Given the description of an element on the screen output the (x, y) to click on. 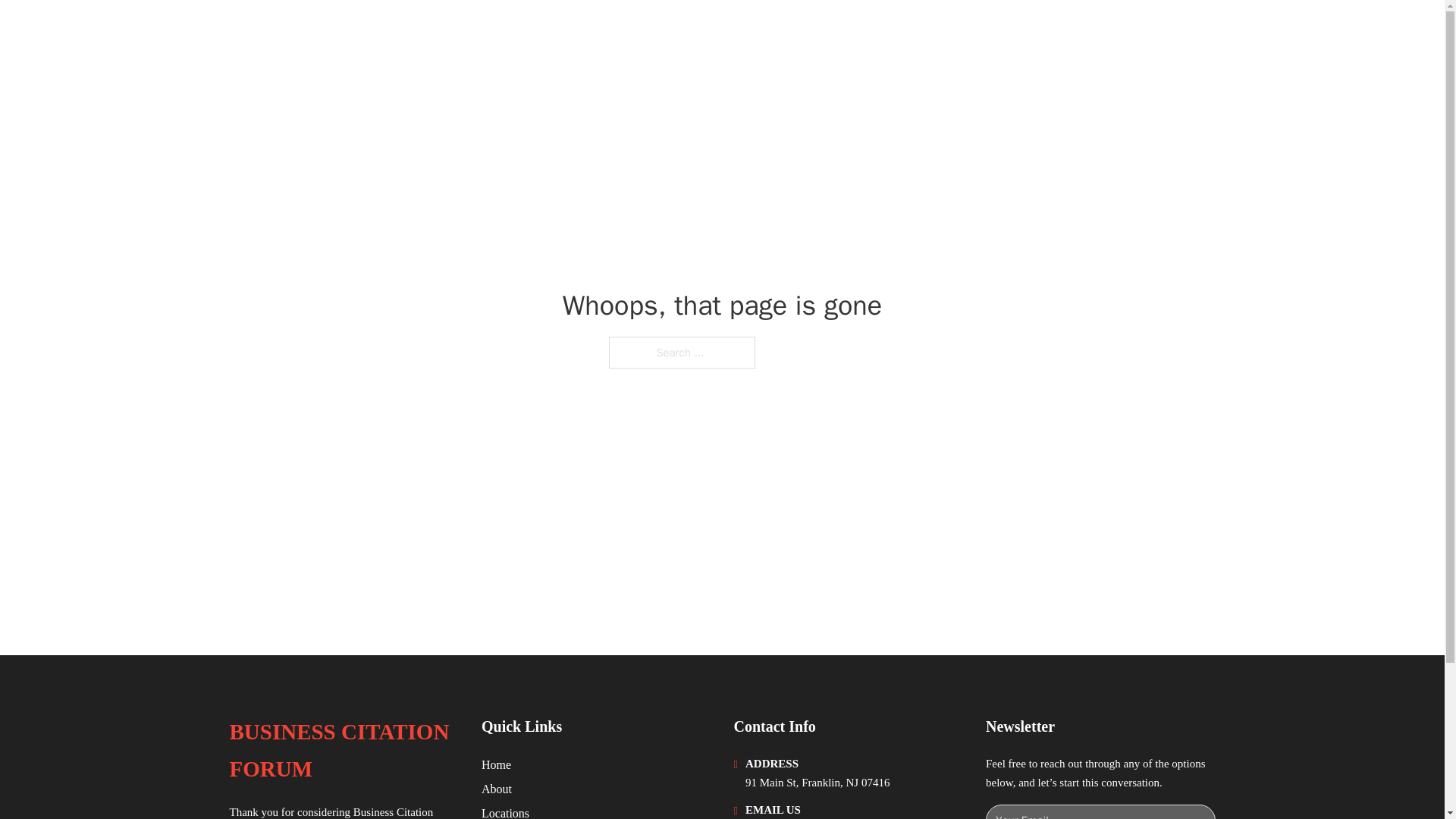
Locations (505, 811)
About (496, 788)
Home (496, 764)
HOME (1025, 31)
BUSINESS CITATION FORUM (343, 750)
LOCATIONS (1098, 31)
BUSINESS CITATION FORUM (398, 31)
